Given the description of an element on the screen output the (x, y) to click on. 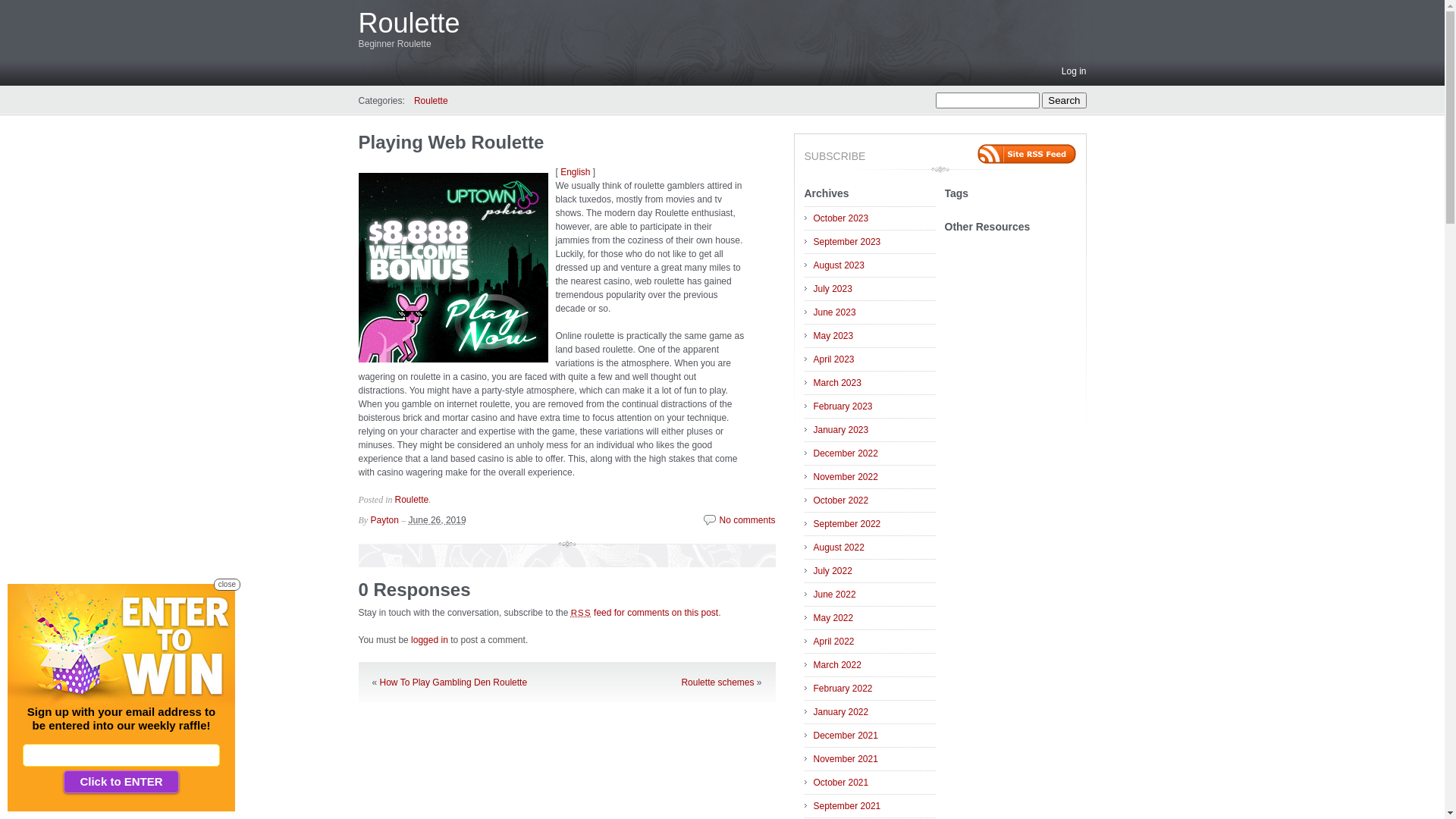
August 2022 Element type: text (873, 547)
Click to ENTER Element type: text (120, 781)
September 2023 Element type: text (873, 241)
Payton Element type: text (384, 519)
February 2023 Element type: text (873, 406)
Log in Element type: text (1073, 71)
November 2022 Element type: text (873, 476)
October 2023 Element type: text (873, 218)
Roulette Element type: text (408, 22)
December 2022 Element type: text (873, 453)
Roulette Element type: text (411, 499)
May 2023 Element type: text (873, 335)
April 2023 Element type: text (873, 359)
May 2022 Element type: text (873, 617)
RSS feed for comments on this post Element type: text (644, 612)
July 2023 Element type: text (873, 288)
Roulette Element type: text (431, 100)
July 2022 Element type: text (873, 570)
No comments Element type: text (739, 519)
October 2022 Element type: text (873, 500)
June 2022 Element type: text (873, 594)
RSS 2.0 feed for posts Element type: hover (1025, 153)
August 2023 Element type: text (873, 265)
November 2021 Element type: text (873, 758)
March 2022 Element type: text (873, 664)
Playing Web Roulette Element type: text (450, 141)
March 2023 Element type: text (873, 382)
October 2021 Element type: text (873, 782)
January 2023 Element type: text (873, 429)
How To Play Gambling Den Roulette Element type: text (453, 682)
logged in Element type: text (429, 639)
April 2022 Element type: text (873, 641)
September 2022 Element type: text (873, 523)
Roulette schemes Element type: text (716, 682)
September 2021 Element type: text (873, 805)
December 2021 Element type: text (873, 735)
June 2023 Element type: text (873, 312)
English Element type: text (574, 171)
February 2022 Element type: text (873, 688)
January 2022 Element type: text (873, 711)
Search Element type: text (1063, 100)
